Given the description of an element on the screen output the (x, y) to click on. 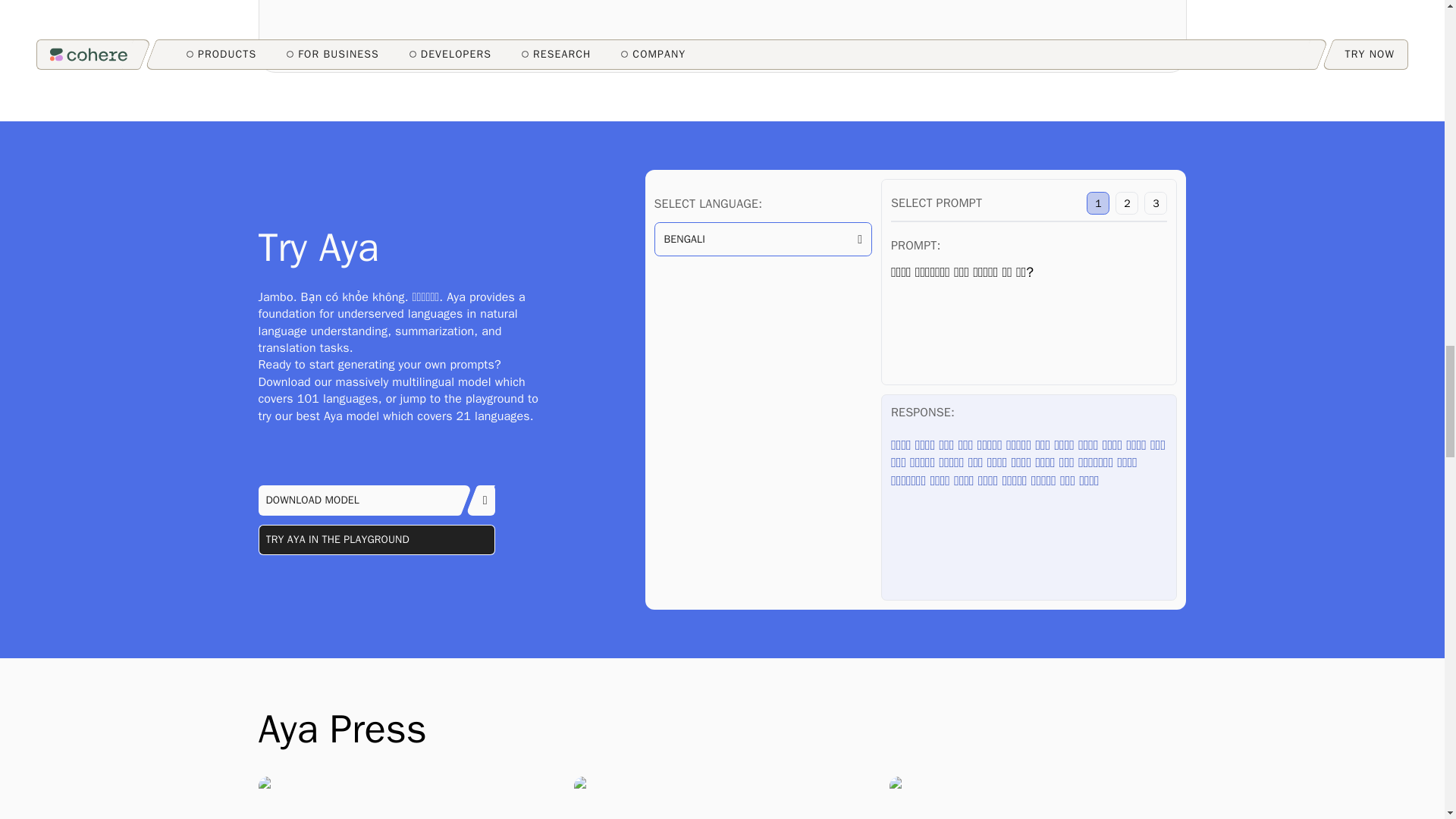
1 (1097, 202)
2 (1126, 202)
3 (1155, 202)
BENGALI (761, 239)
DOWNLOAD MODEL (376, 500)
TRY AYA IN THE PLAYGROUND (376, 539)
